Given the description of an element on the screen output the (x, y) to click on. 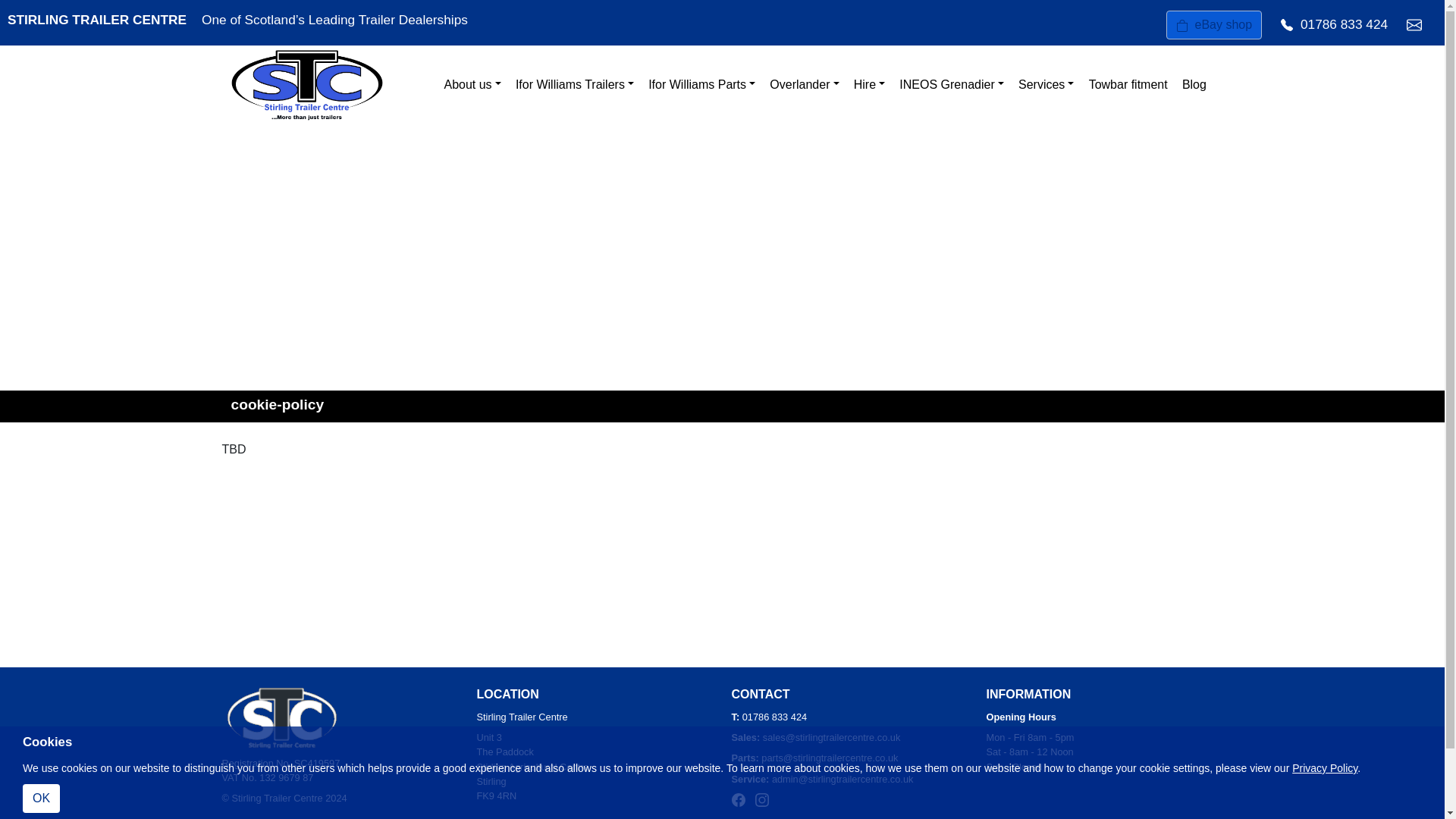
Ifor Williams Parts (702, 85)
OK (41, 798)
INEOS Grenadier (951, 85)
Towbar fitment (1127, 85)
Services (1045, 85)
Hire (868, 85)
OK (41, 798)
  eBay shop (1214, 23)
Ifor Williams Trailers (574, 85)
  eBay shop (1214, 24)
